Given the description of an element on the screen output the (x, y) to click on. 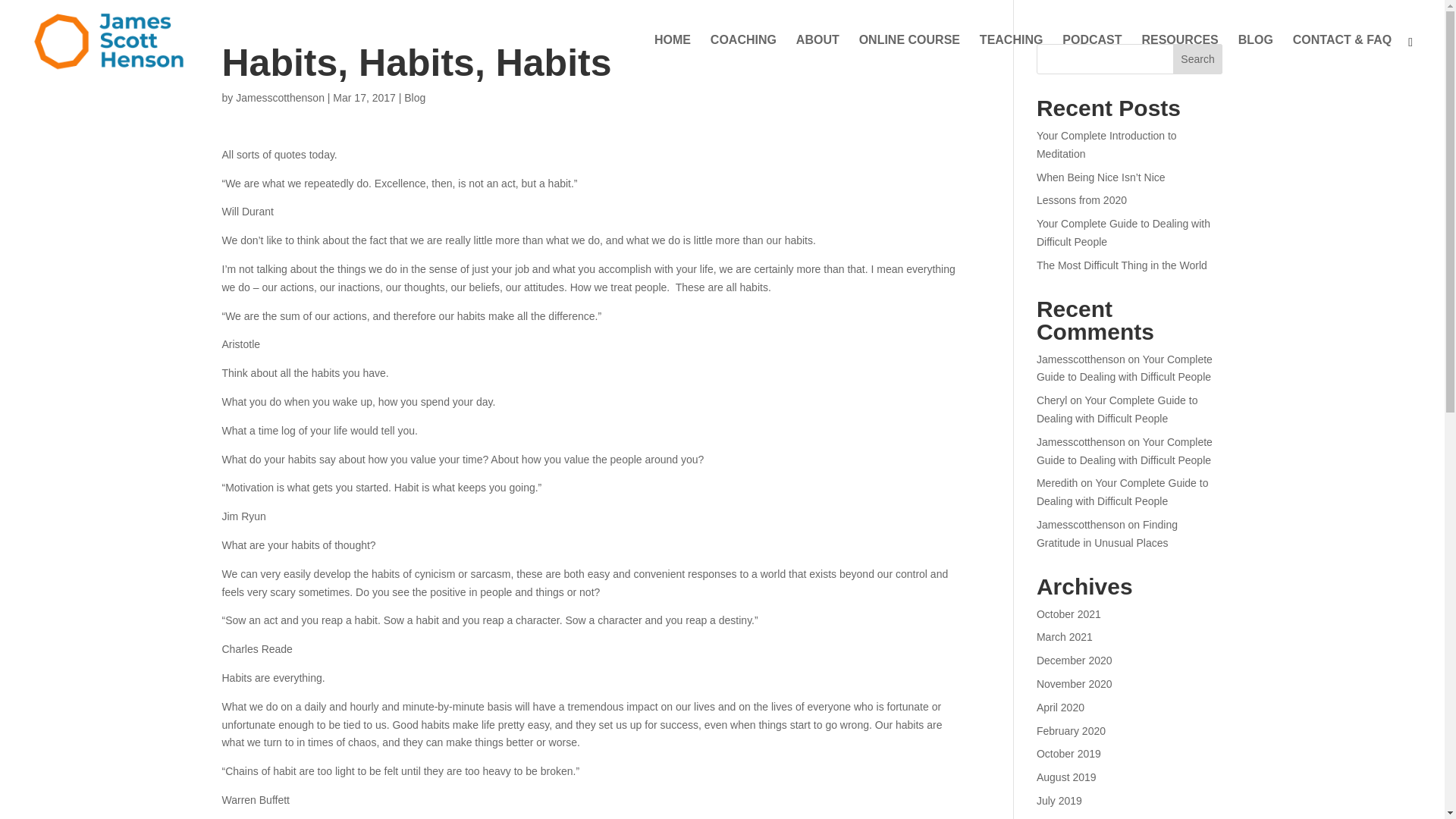
PODCAST (1091, 57)
July 2019 (1058, 800)
RESOURCES (1179, 57)
October 2019 (1068, 753)
COACHING (743, 57)
Search (1198, 59)
TEACHING (1011, 57)
Finding Gratitude in Unusual Places (1106, 533)
Your Complete Guide to Dealing with Difficult People (1124, 368)
April 2020 (1060, 707)
The Most Difficult Thing in the World (1121, 265)
October 2021 (1068, 613)
Lessons from 2020 (1081, 200)
February 2020 (1070, 730)
November 2020 (1074, 684)
